Given the description of an element on the screen output the (x, y) to click on. 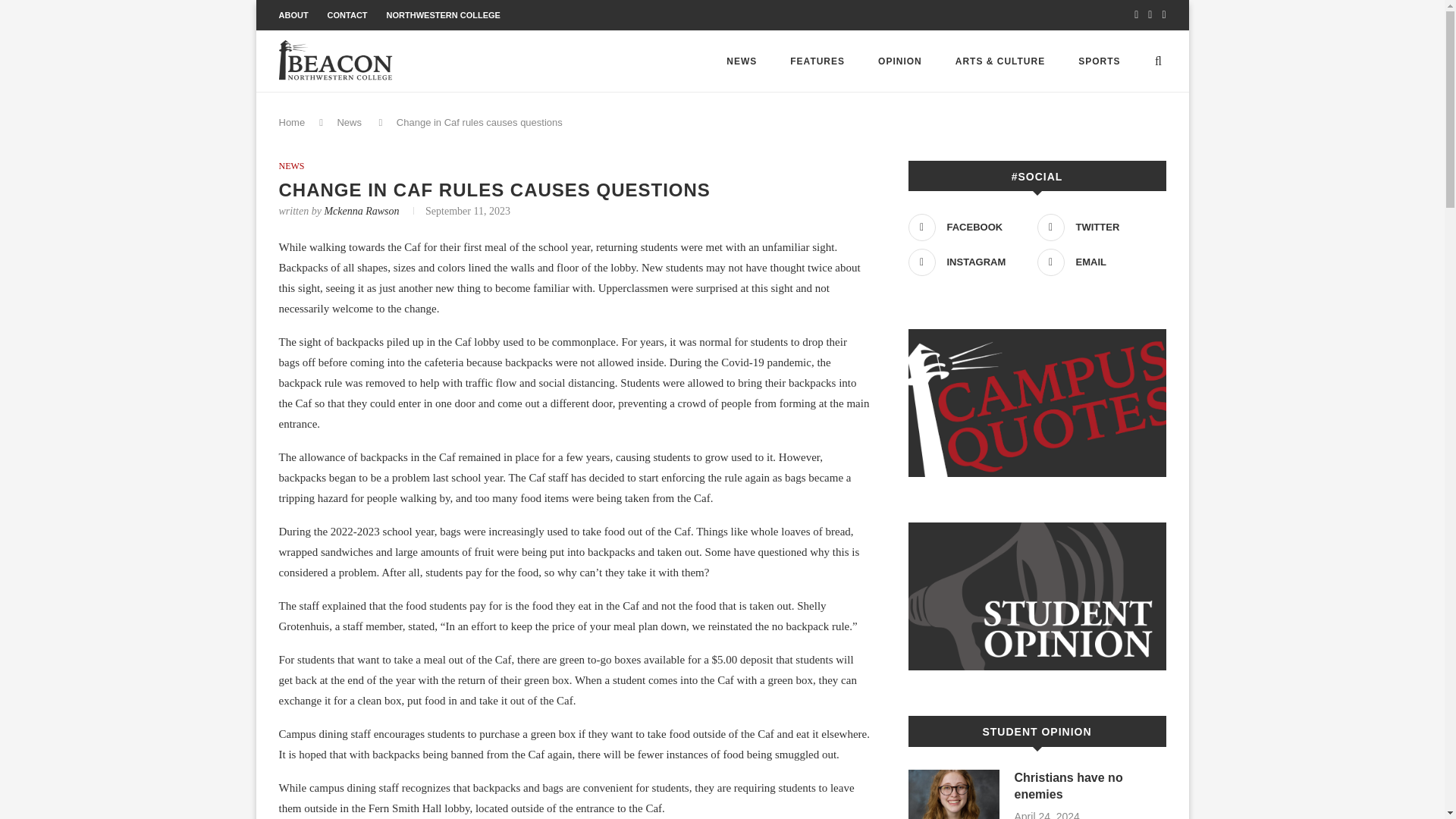
FEATURES (817, 61)
NEWS (291, 165)
NORTHWESTERN COLLEGE (443, 14)
News (348, 122)
ABOUT (293, 14)
SPORTS (1098, 61)
Home (292, 122)
CONTACT (347, 14)
Christians have no enemies (953, 794)
View all posts in News (291, 165)
NEWS (741, 61)
Mckenna Rawson (360, 211)
Christians have no enemies (1090, 786)
OPINION (899, 61)
